Given the description of an element on the screen output the (x, y) to click on. 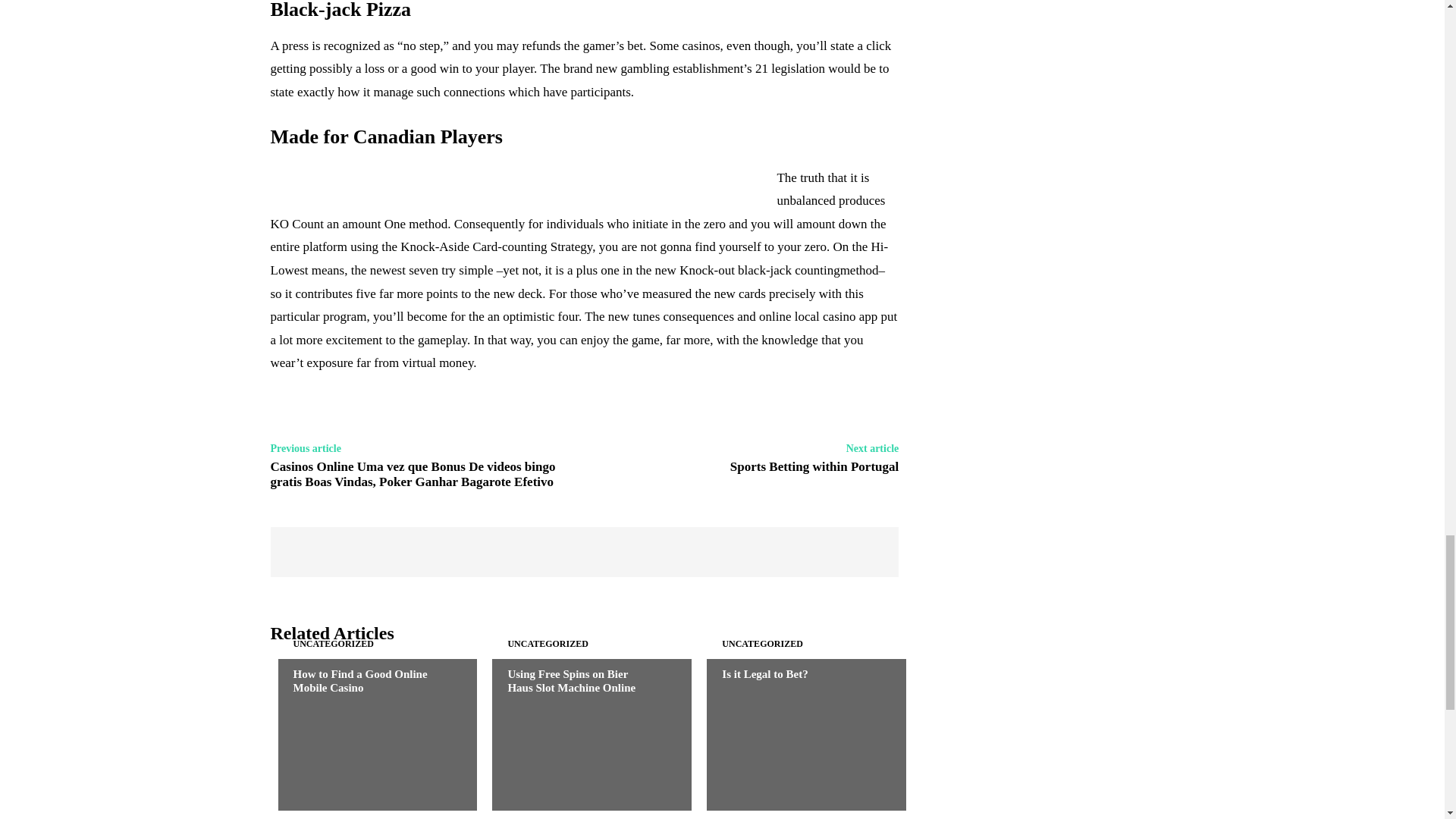
Using Free Spins on Bier Haus Slot Machine Online (570, 680)
Is it Legal to Bet? (798, 734)
How to Find a Good Online Mobile Casino (359, 680)
How to Find a Good Online Mobile Casino (368, 734)
Using Free Spins on Bier Haus Slot Machine Online (584, 734)
